Given the description of an element on the screen output the (x, y) to click on. 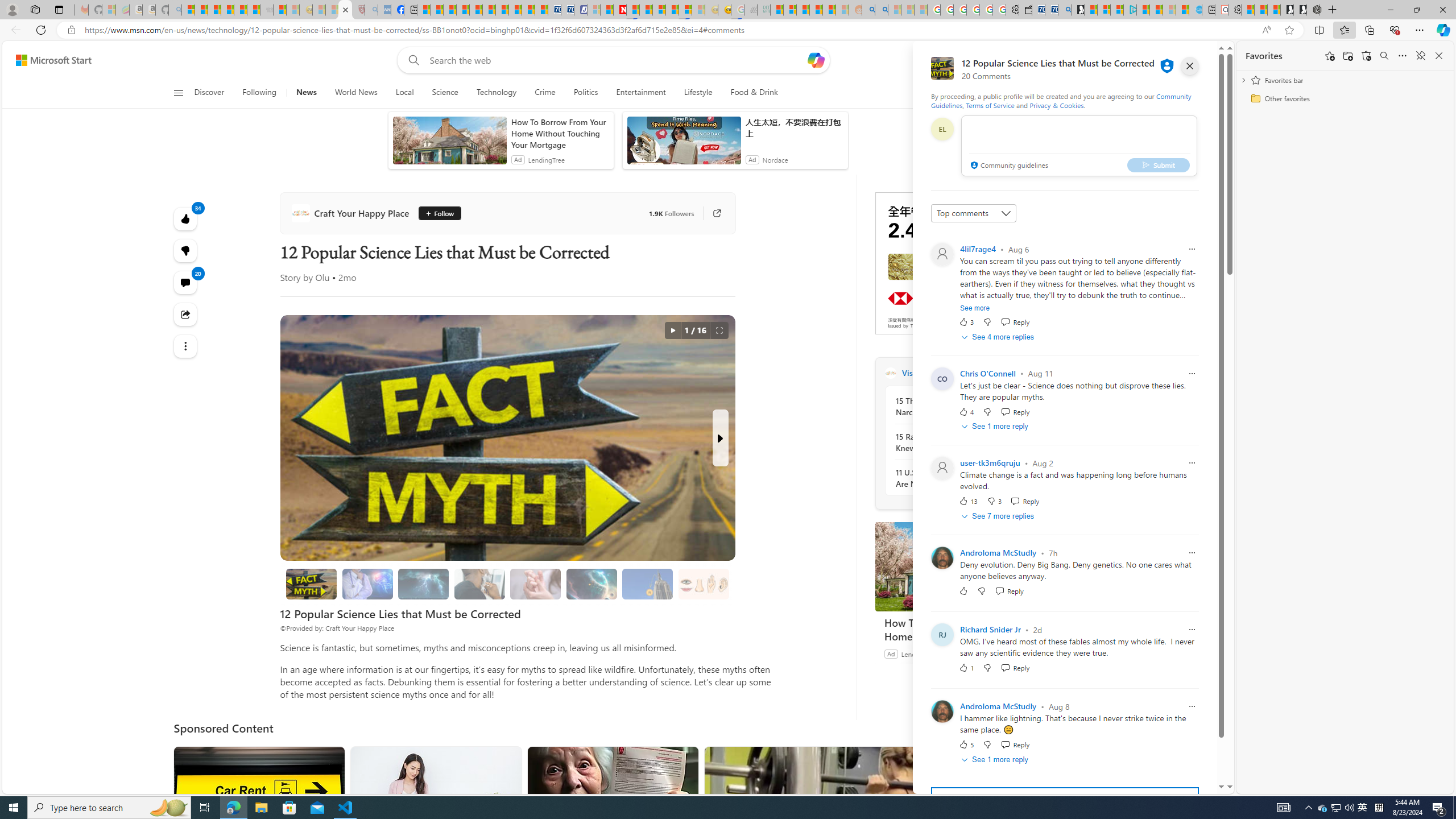
Latest Politics News & Archive | Newsweek.com (619, 9)
Community guidelines (1008, 165)
Sort comments by (973, 212)
1 Like (965, 667)
